Given the description of an element on the screen output the (x, y) to click on. 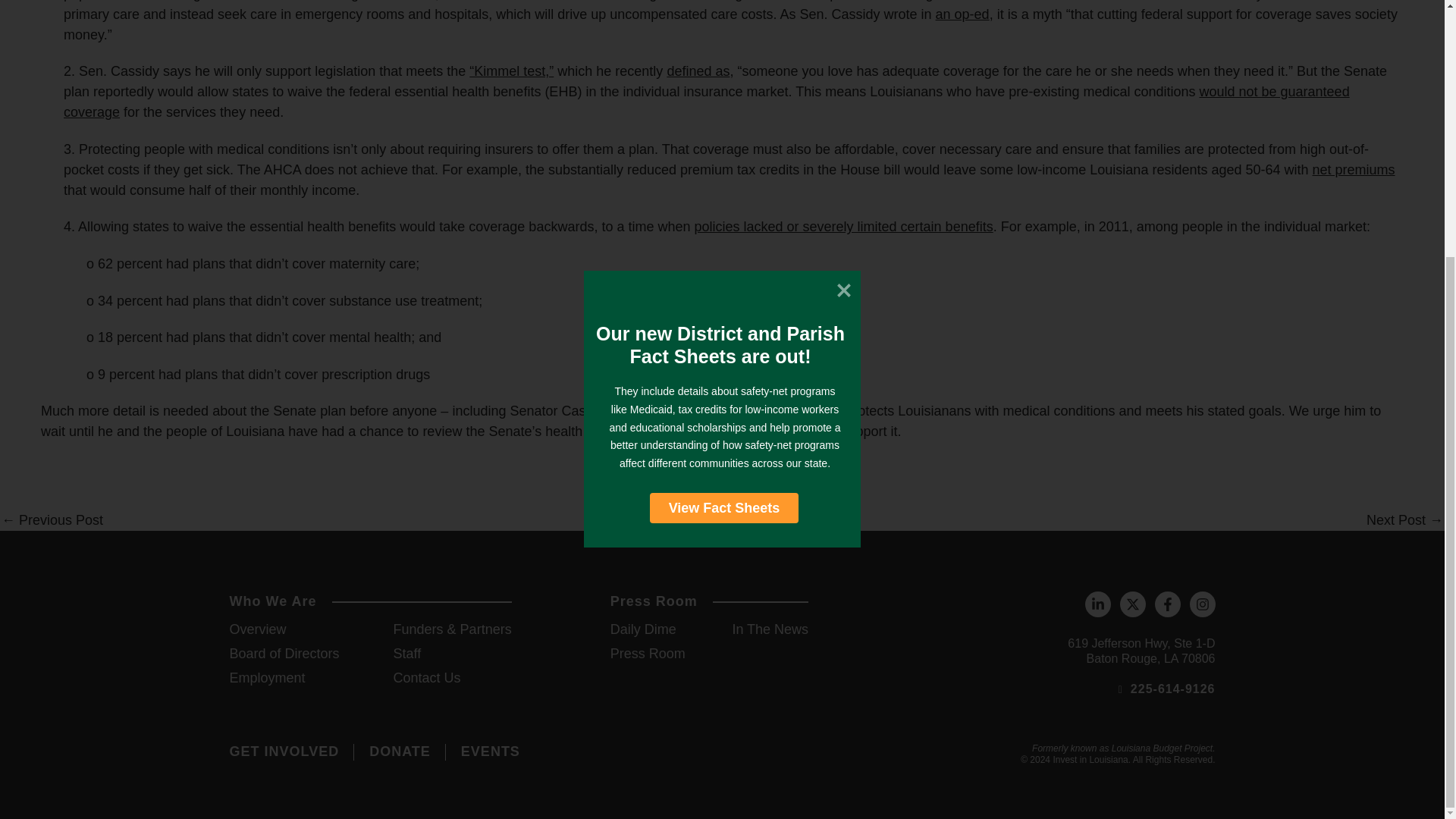
Education: Fiscal Year 2018 budget (52, 520)
Commentary: Don't blame the weatherman for the rain (1404, 520)
